Given the description of an element on the screen output the (x, y) to click on. 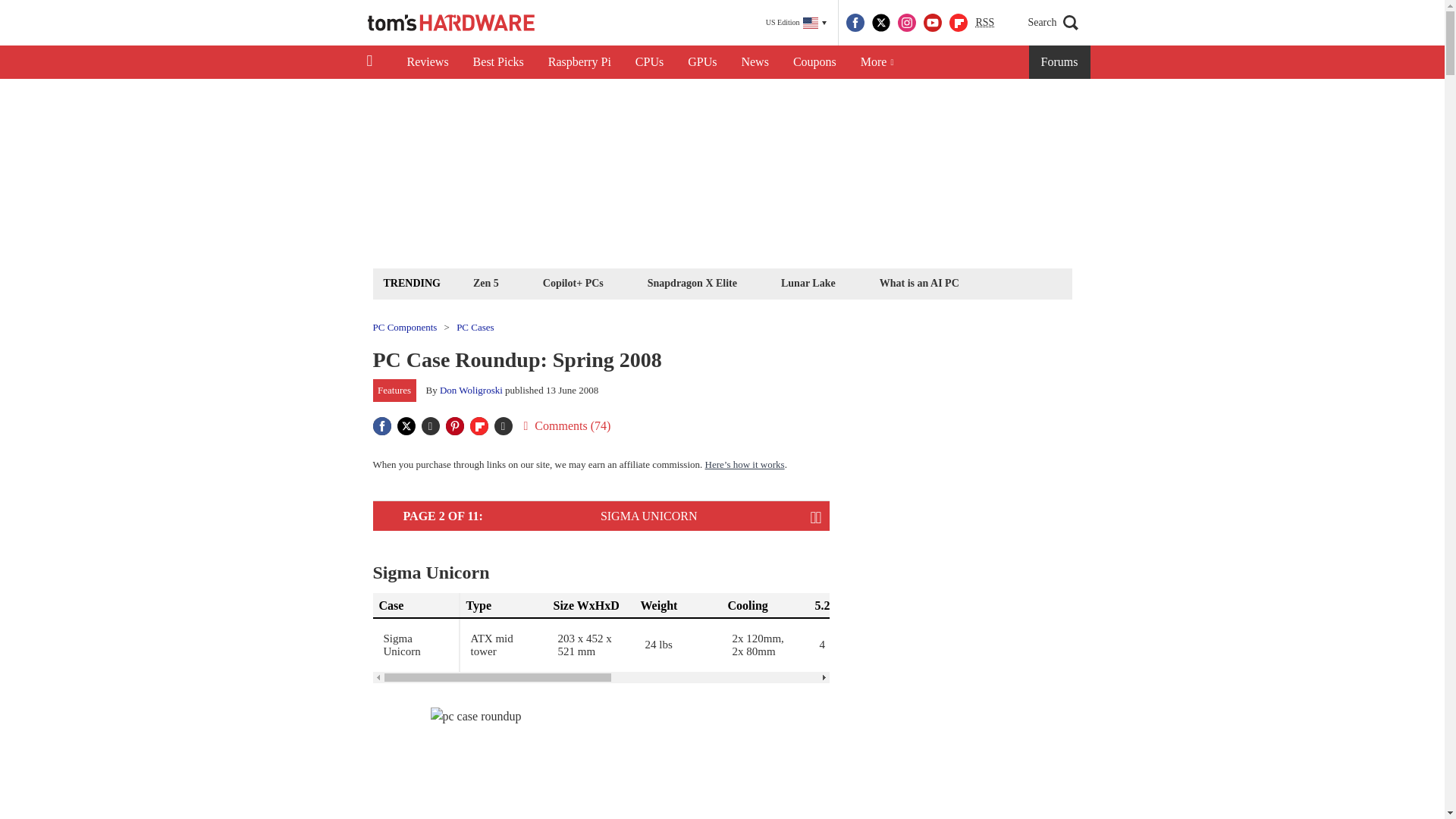
Reviews (427, 61)
RSS (984, 22)
CPUs (649, 61)
GPUs (702, 61)
Really Simple Syndication (984, 21)
US Edition (796, 22)
Forums (1059, 61)
Best Picks (498, 61)
Zen 5 (485, 282)
Raspberry Pi (579, 61)
News (754, 61)
Coupons (814, 61)
